Given the description of an element on the screen output the (x, y) to click on. 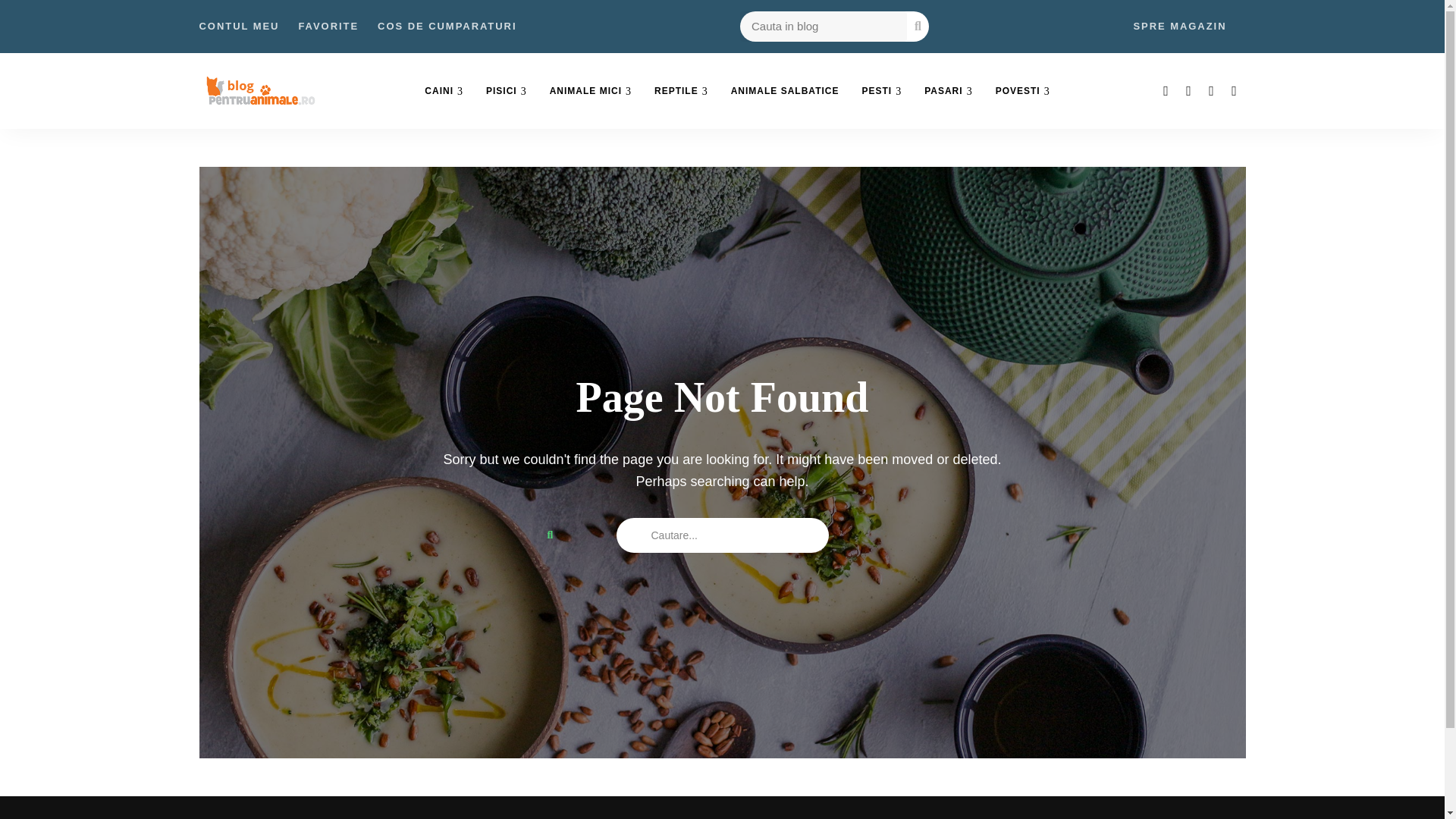
ANIMALE SALBATICE (784, 90)
REPTILE (681, 90)
SPRE MAGAZIN (1178, 26)
CONTUL MEU (238, 26)
ANIMALE MICI (590, 90)
COS DE CUMPARATURI (446, 26)
PASARI (948, 90)
FAVORITE (328, 26)
POVESTI (1022, 90)
